Given the description of an element on the screen output the (x, y) to click on. 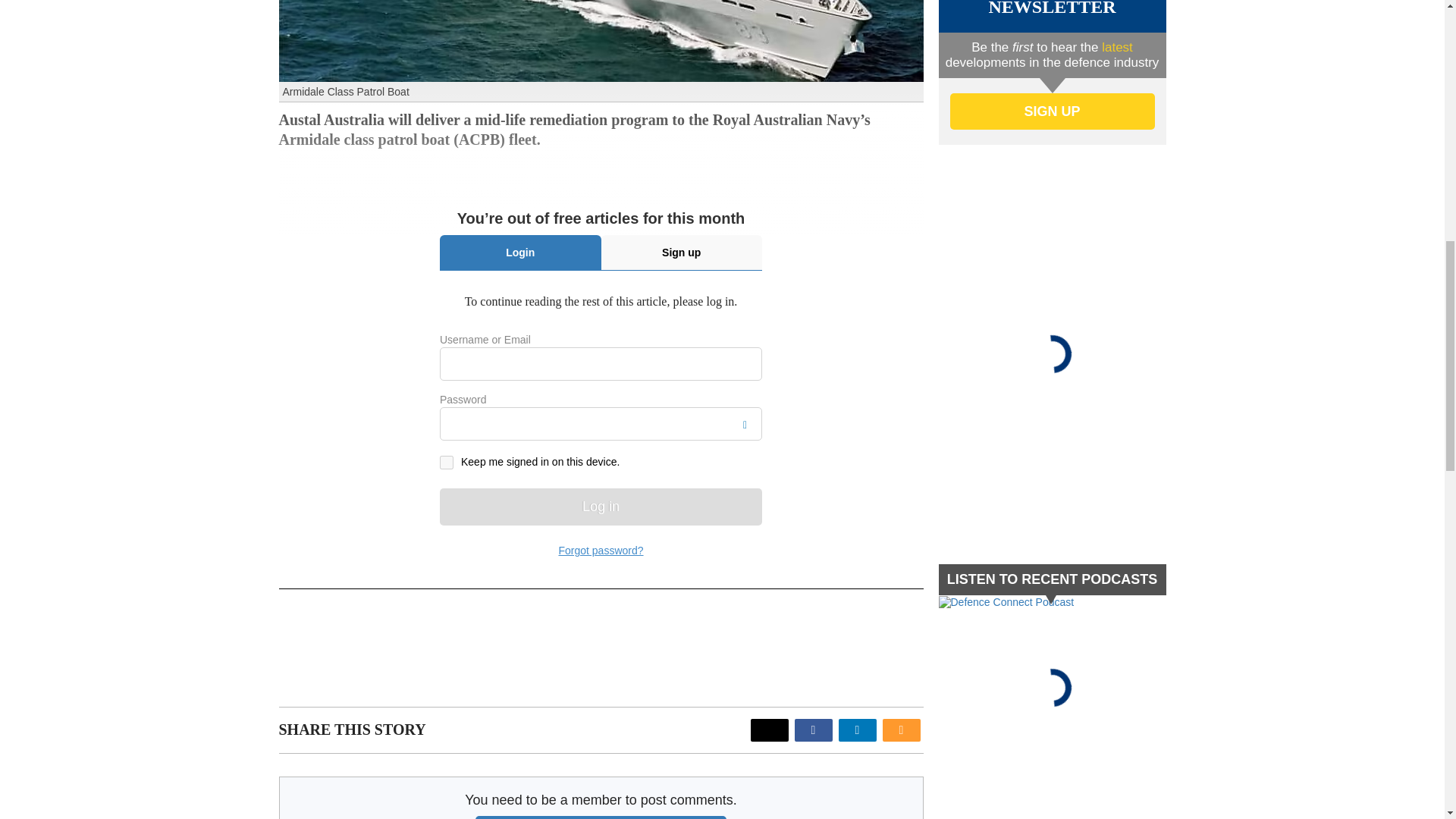
Log in (600, 506)
sign up (1051, 110)
on (445, 462)
